Given the description of an element on the screen output the (x, y) to click on. 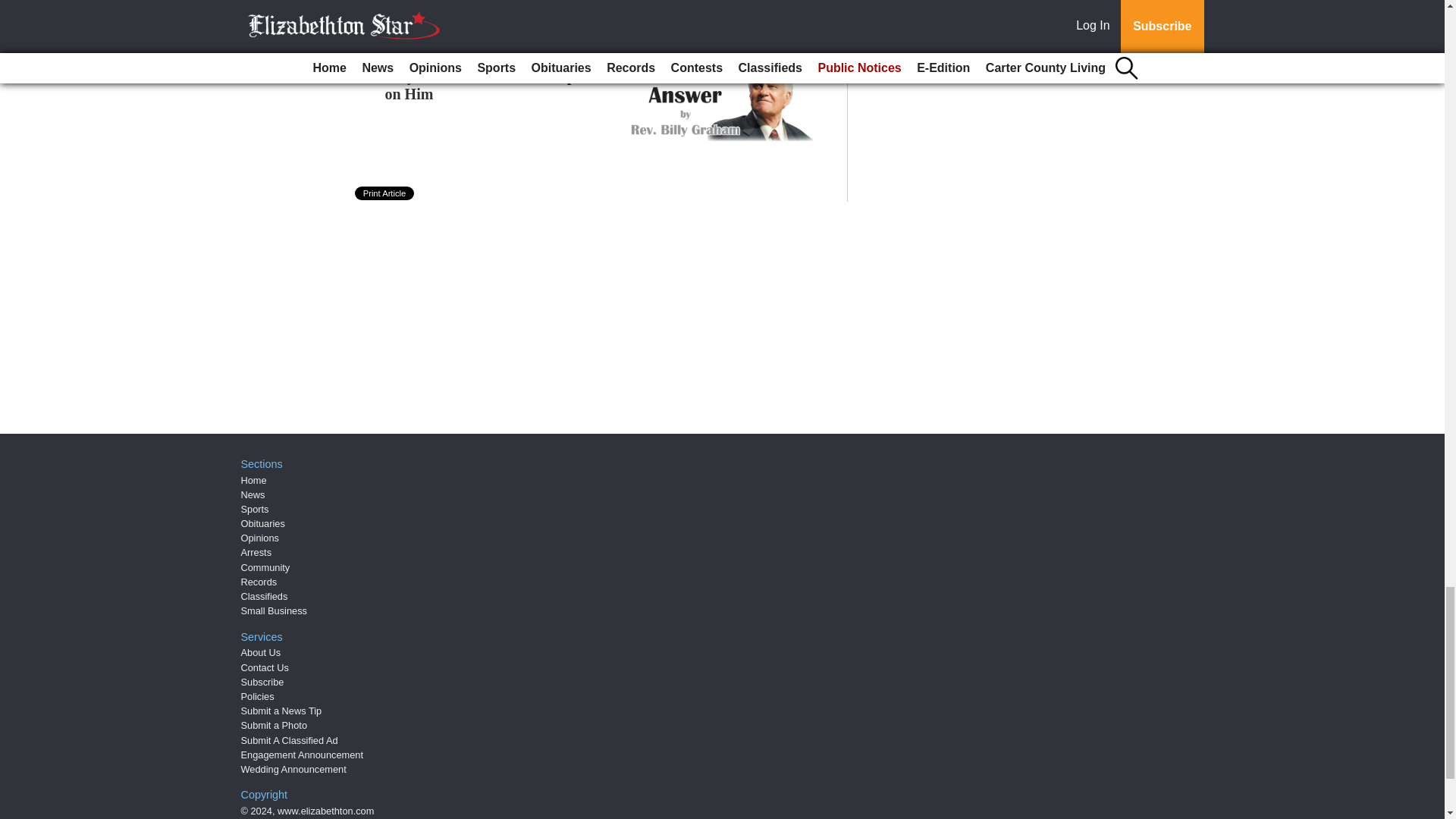
Community (265, 567)
Home (253, 480)
Print Article (384, 192)
Opinions (260, 537)
Obituaries (263, 523)
Arrests (256, 552)
Sports (255, 509)
News (252, 494)
